Given the description of an element on the screen output the (x, y) to click on. 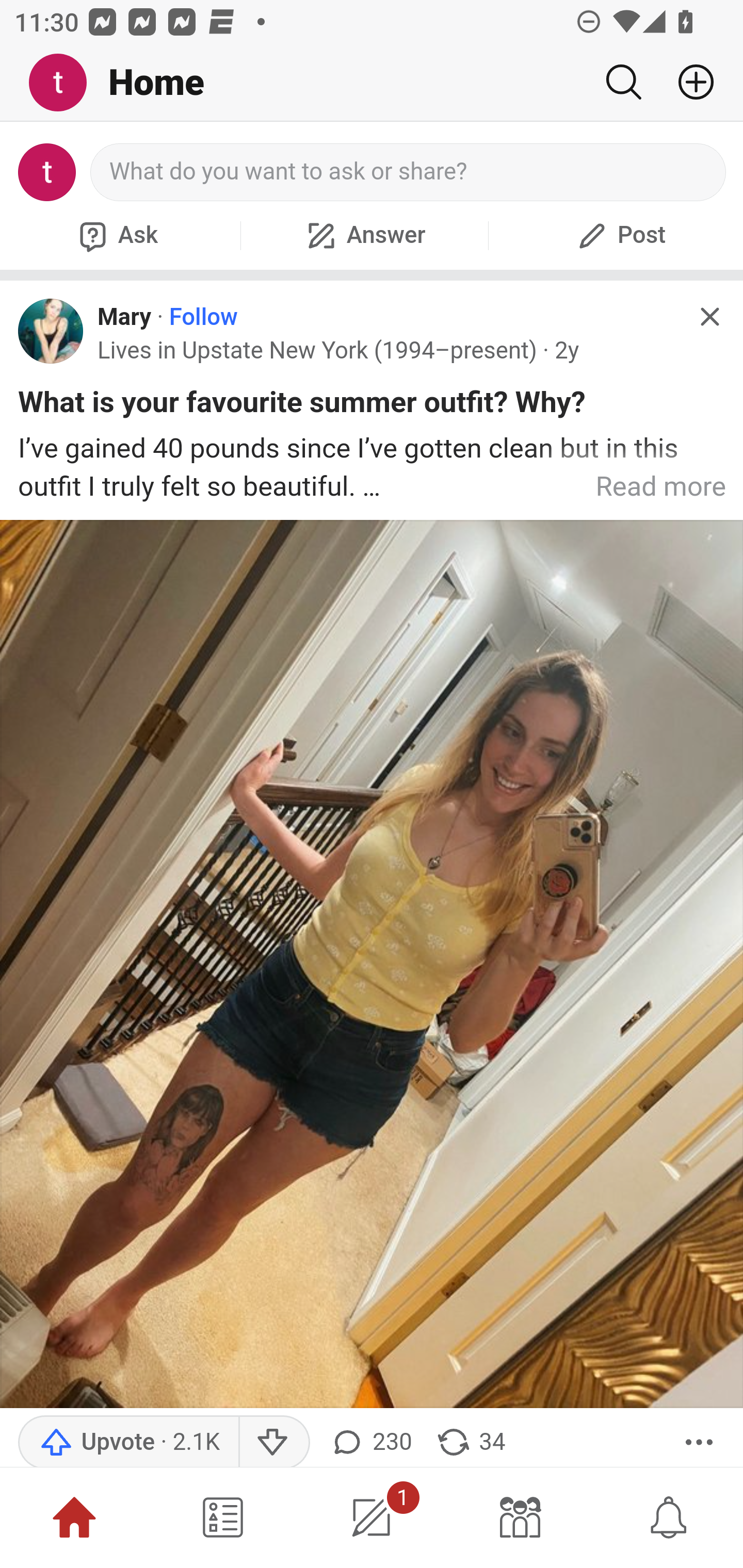
Me (64, 83)
Search (623, 82)
Add (688, 82)
What do you want to ask or share? (408, 172)
Ask (116, 234)
Answer (364, 234)
Post (618, 234)
Hide (709, 316)
Profile photo for Mary (50, 330)
Mary (124, 316)
Follow (202, 316)
Upvote (127, 1441)
Downvote (273, 1441)
230 comments (369, 1441)
34 shares (470, 1441)
More (699, 1441)
1 (371, 1517)
